Given the description of an element on the screen output the (x, y) to click on. 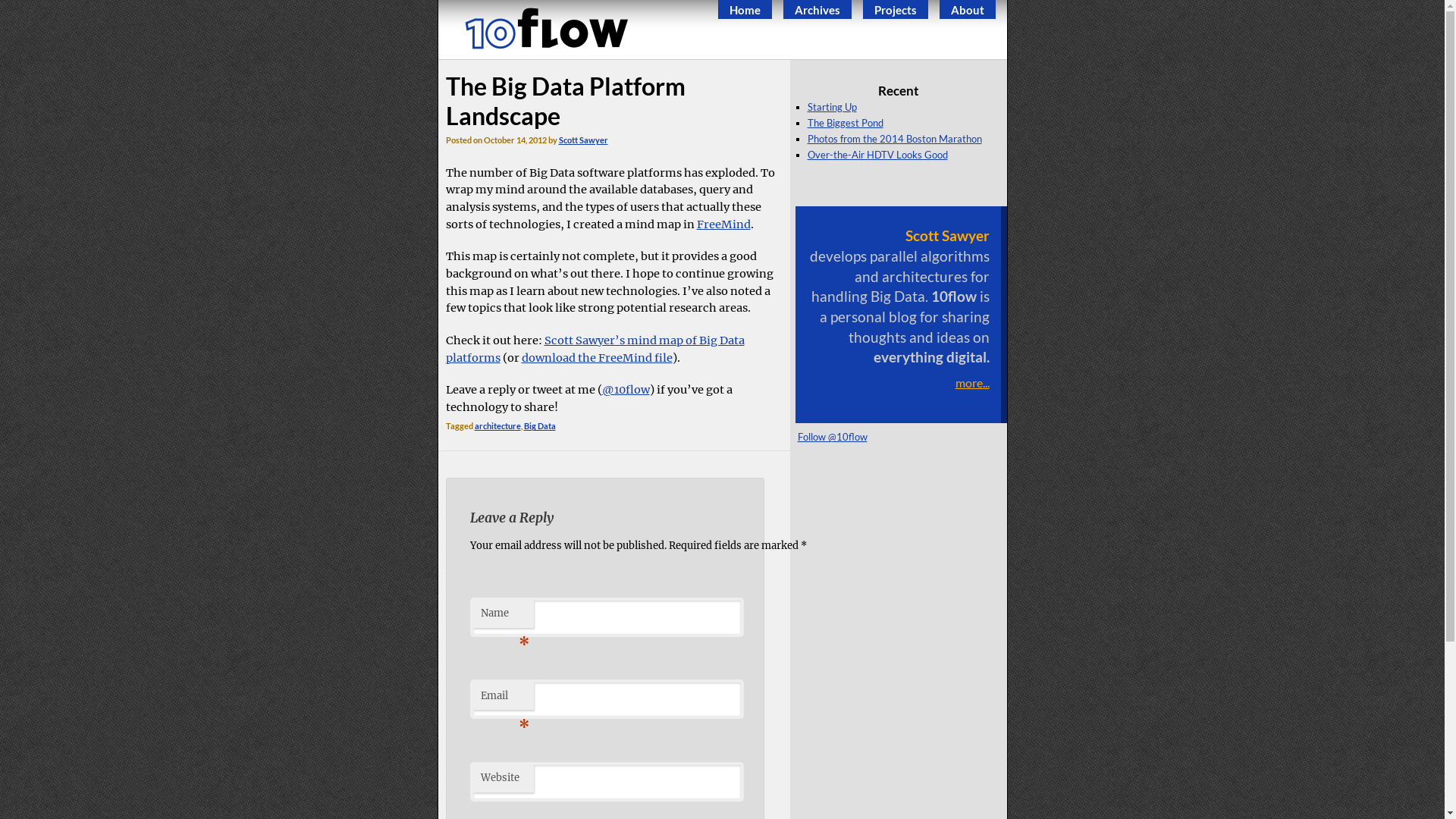
The Biggest Pond Element type: text (844, 122)
Over-the-Air HDTV Looks Good Element type: text (876, 154)
Photos from the 2014 Boston Marathon Element type: text (893, 138)
Home Element type: text (744, 9)
FreeMind Element type: text (722, 224)
Projects Element type: text (894, 9)
Follow @10flow Element type: text (832, 436)
architecture Element type: text (497, 425)
@10flow Element type: text (625, 389)
more... Element type: text (897, 382)
About Element type: text (967, 9)
Starting Up Element type: text (831, 106)
Scott Sawyer Element type: text (582, 139)
Archives Element type: text (817, 9)
Big Data Element type: text (539, 425)
download the FreeMind file Element type: text (596, 357)
